Given the description of an element on the screen output the (x, y) to click on. 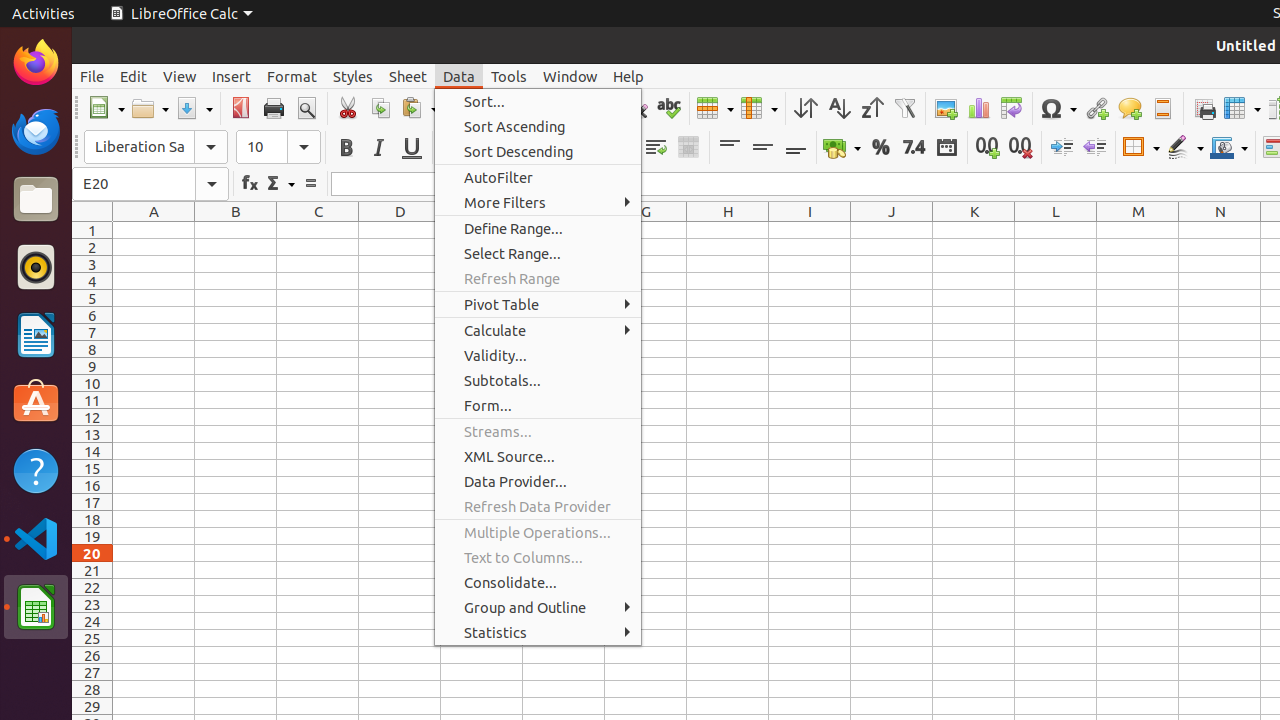
Help Element type: menu (628, 76)
Font Name Element type: combo-box (156, 147)
Print Element type: push-button (273, 108)
Visual Studio Code Element type: push-button (36, 538)
Sort Ascending Element type: push-button (838, 108)
